Given the description of an element on the screen output the (x, y) to click on. 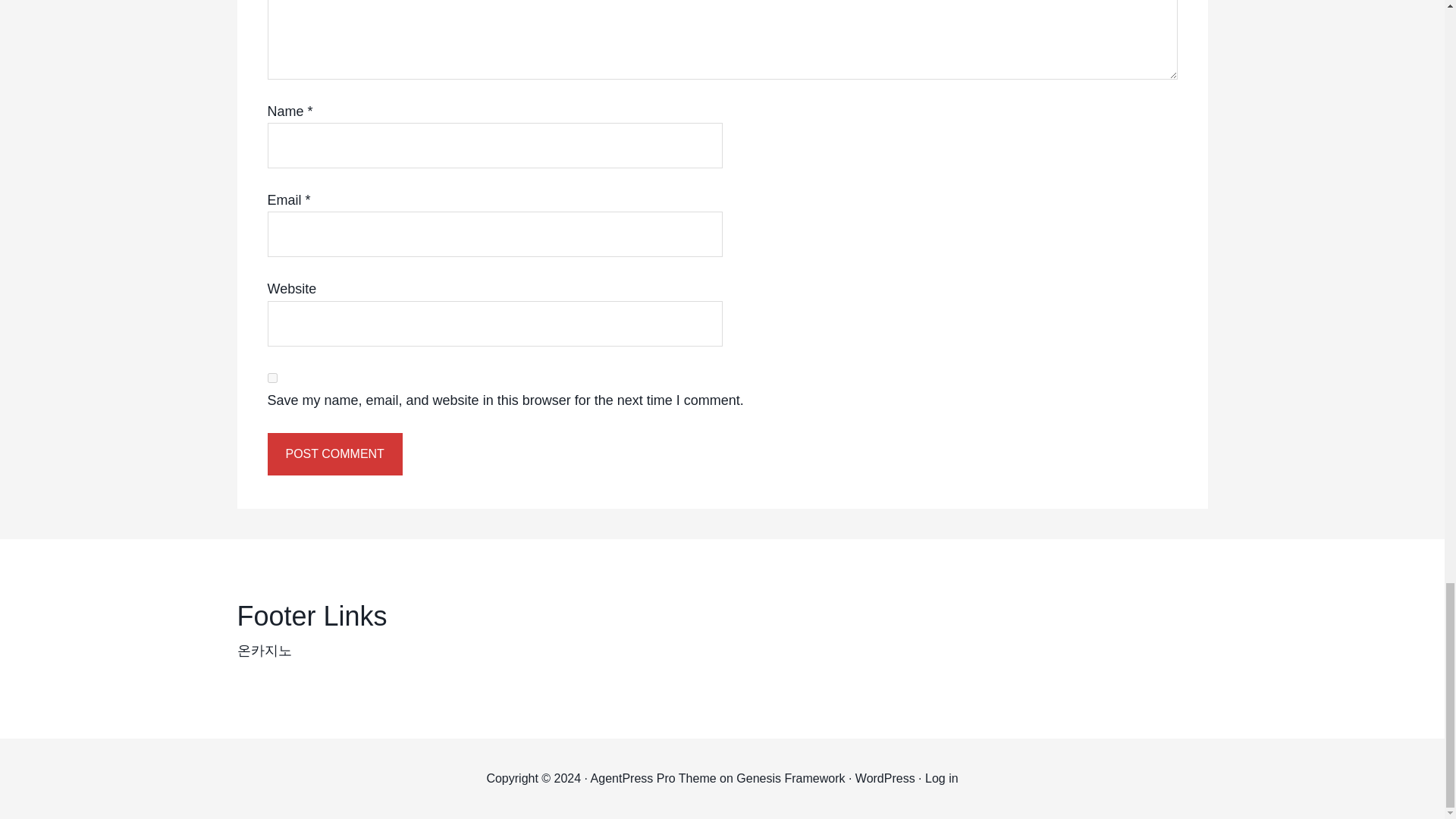
Genesis Framework (790, 778)
yes (271, 378)
Post Comment (333, 454)
Post Comment (333, 454)
AgentPress Pro Theme (653, 778)
WordPress (885, 778)
Log in (941, 778)
